Given the description of an element on the screen output the (x, y) to click on. 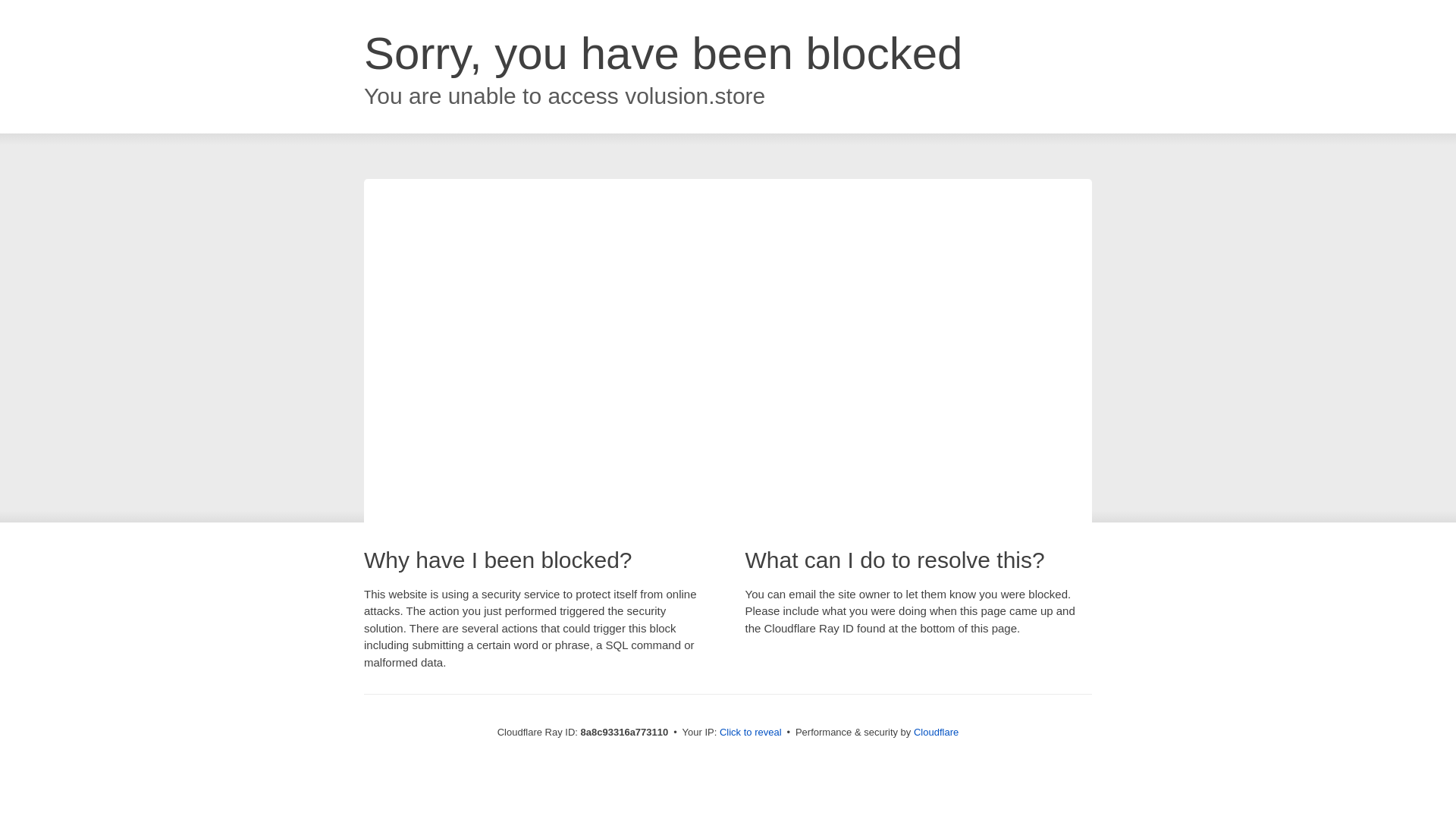
Cloudflare (936, 731)
Click to reveal (750, 732)
